Given the description of an element on the screen output the (x, y) to click on. 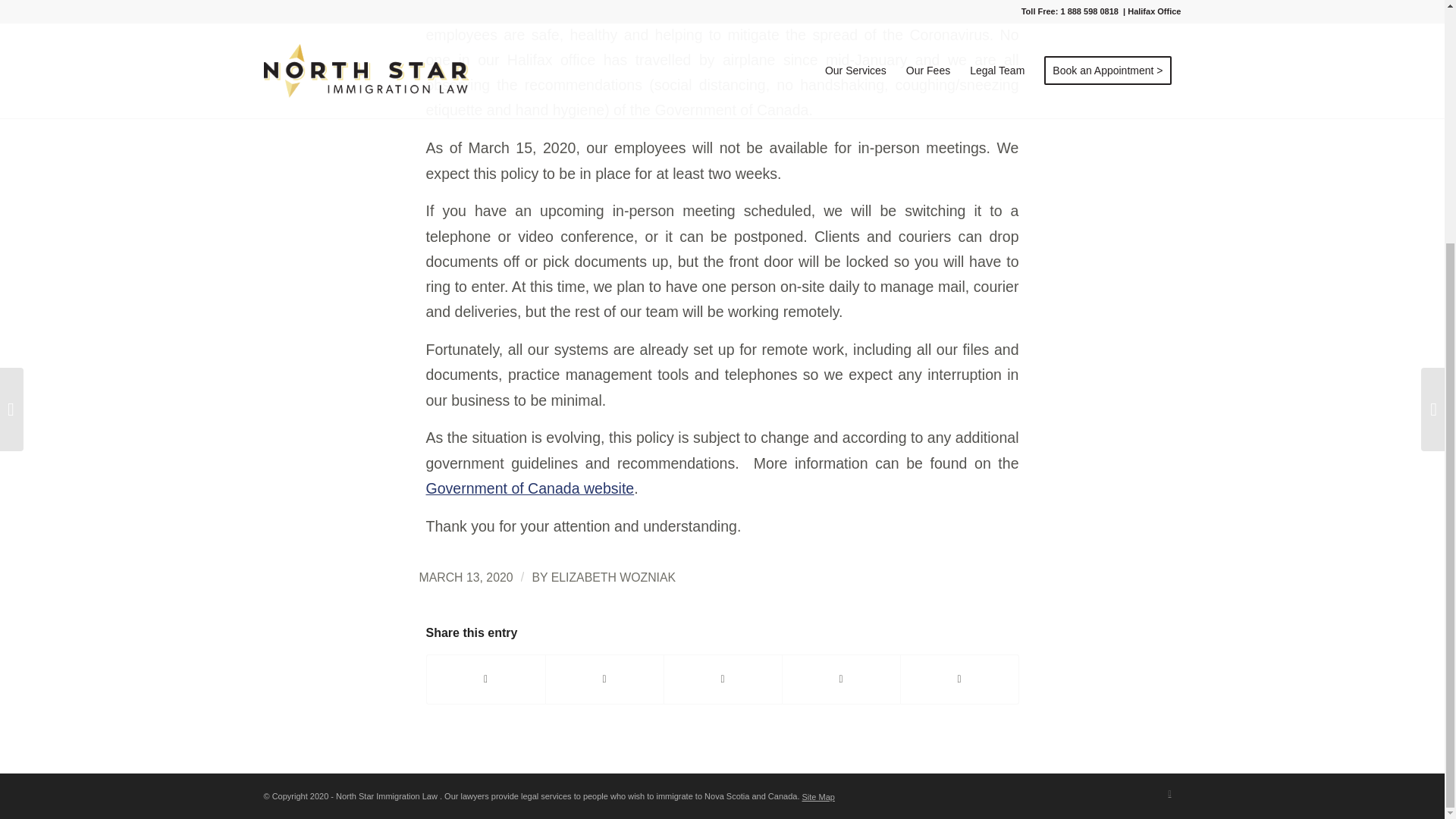
Twitter (1169, 793)
Site Map (818, 796)
DMCA.com Protection Status (924, 796)
Posts by Elizabeth Wozniak (613, 576)
Government of Canada website (530, 487)
ELIZABETH WOZNIAK (613, 576)
